Given the description of an element on the screen output the (x, y) to click on. 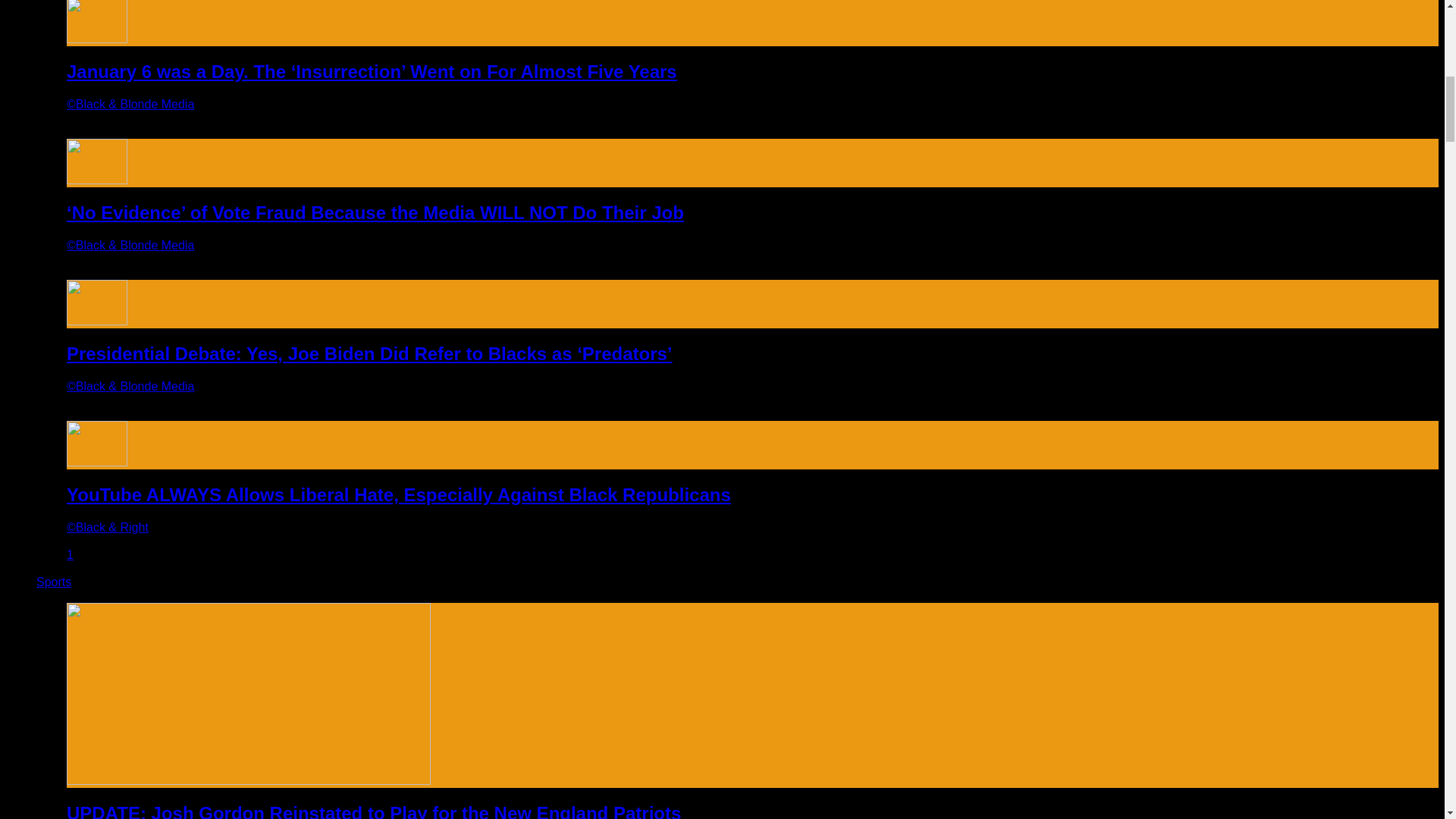
Sports (53, 581)
